Given the description of an element on the screen output the (x, y) to click on. 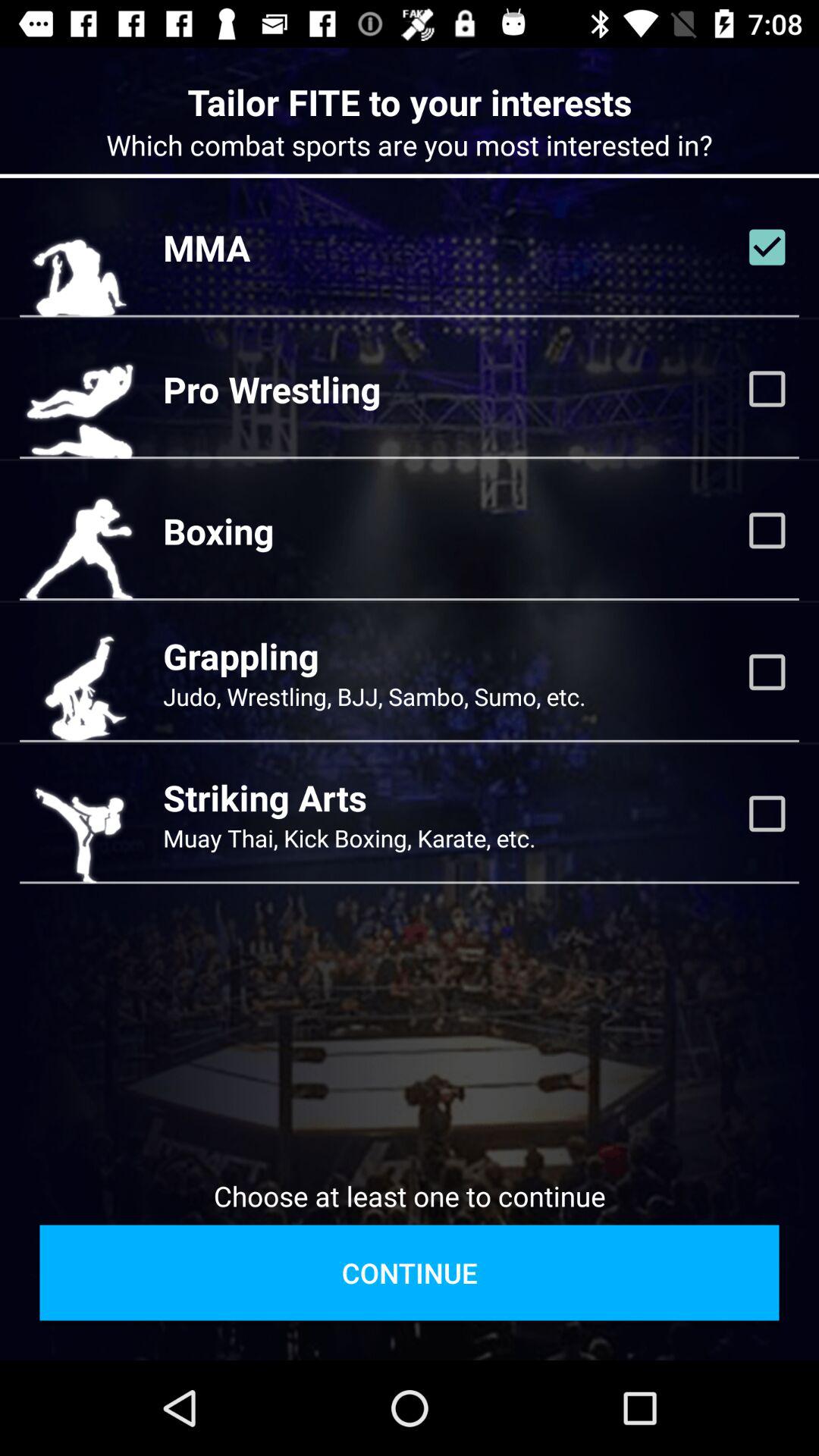
toggle your combat sport interests (767, 672)
